Given the description of an element on the screen output the (x, y) to click on. 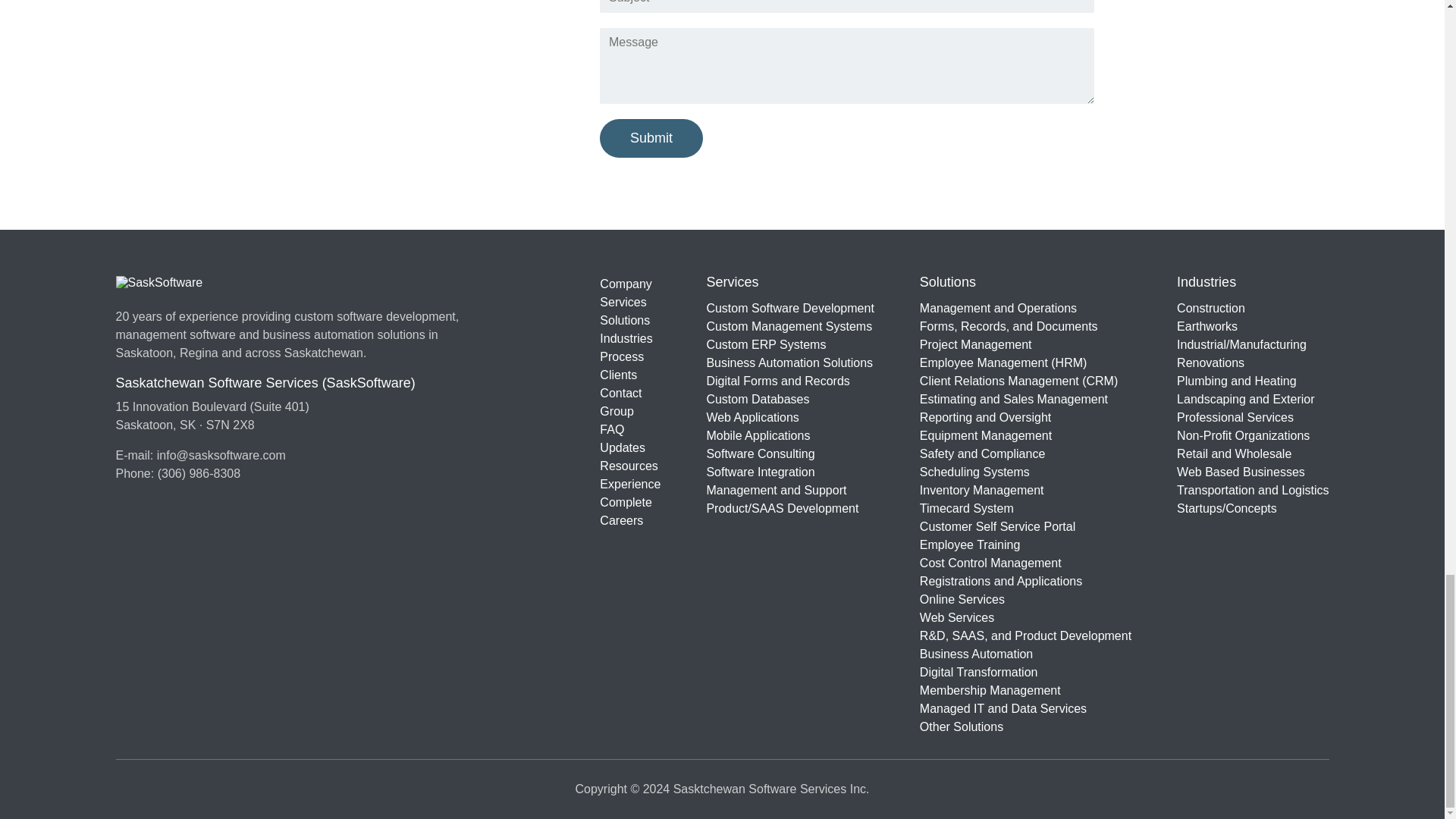
Custom Management Systems (789, 325)
Services (630, 302)
Process (630, 357)
Submit (651, 138)
Complete (630, 502)
Subject (846, 6)
Business Automation Solutions (789, 361)
Mobile Applications (789, 434)
Web Applications (789, 416)
Group (630, 411)
Company (630, 284)
Careers (630, 520)
Digital Forms and Records (789, 380)
Updates (630, 447)
Industries (630, 339)
